Given the description of an element on the screen output the (x, y) to click on. 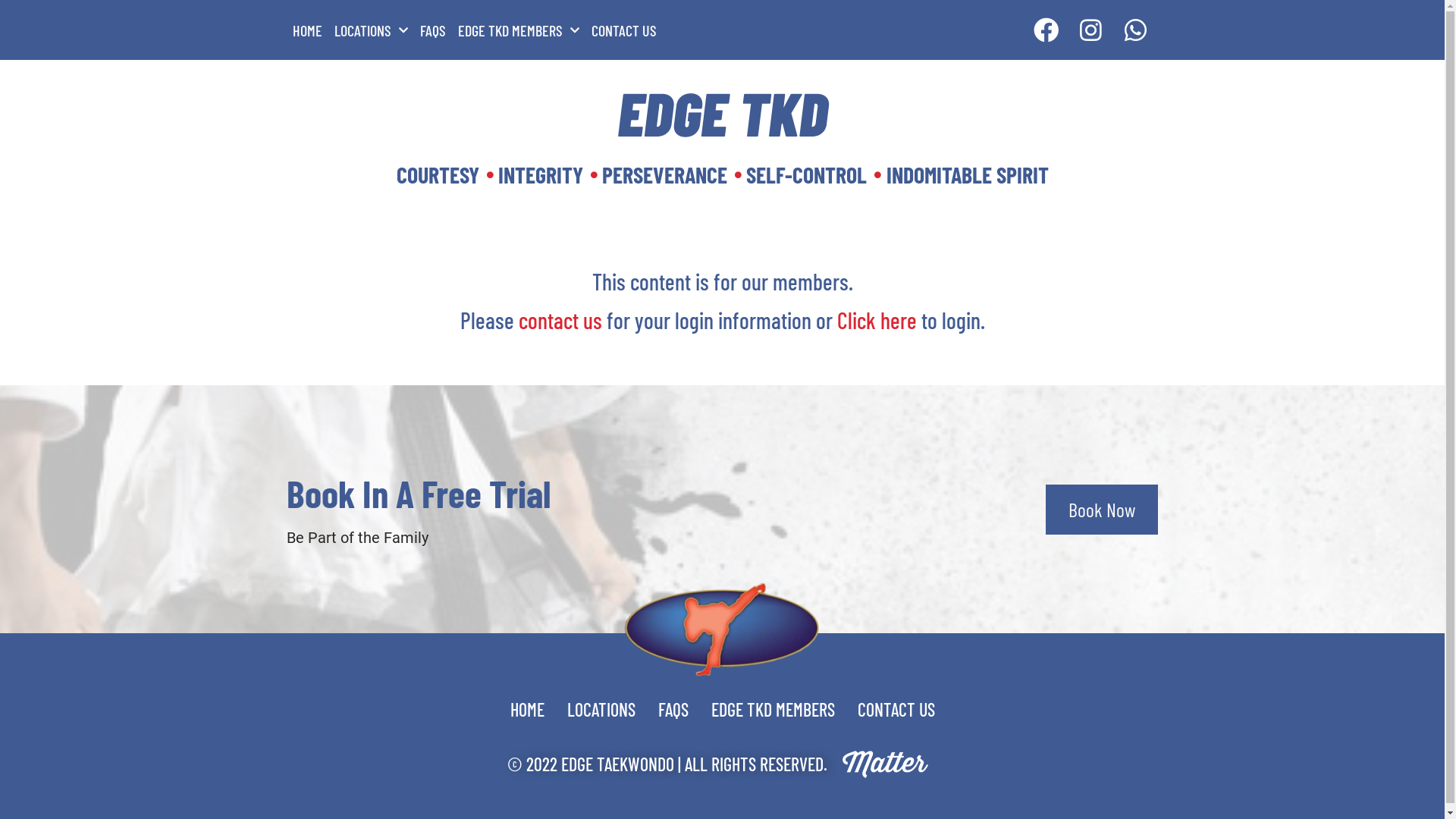
LOCATIONS Element type: text (370, 29)
Book Now Element type: text (1101, 509)
EDGE TKD MEMBERS Element type: text (772, 709)
INDOMITABLE SPIRIT Element type: text (960, 174)
INTEGRITY Element type: text (533, 174)
COURTESY Element type: text (436, 174)
CONTACT US Element type: text (896, 709)
PERSEVERANCE Element type: text (658, 174)
HOME Element type: text (526, 709)
contact us Element type: text (560, 319)
LOCATIONS Element type: text (600, 709)
FAQS Element type: text (432, 29)
SELF-CONTROL Element type: text (800, 174)
EDGE TKD MEMBERS Element type: text (518, 29)
CONTACT US Element type: text (623, 29)
FAQS Element type: text (672, 709)
HOME Element type: text (307, 29)
Click here Element type: text (876, 319)
